Given the description of an element on the screen output the (x, y) to click on. 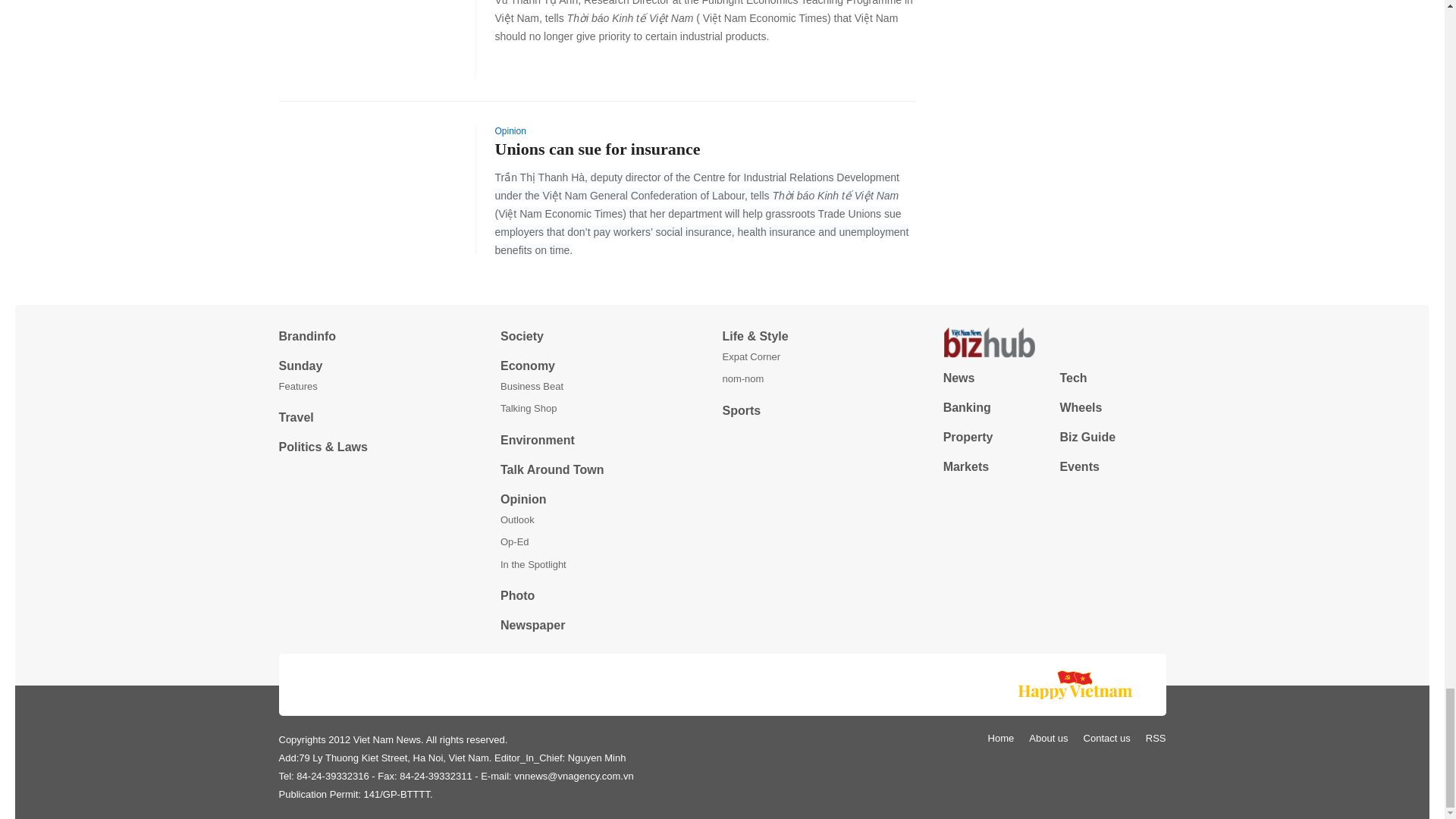
bizhub (1054, 342)
